Given the description of an element on the screen output the (x, y) to click on. 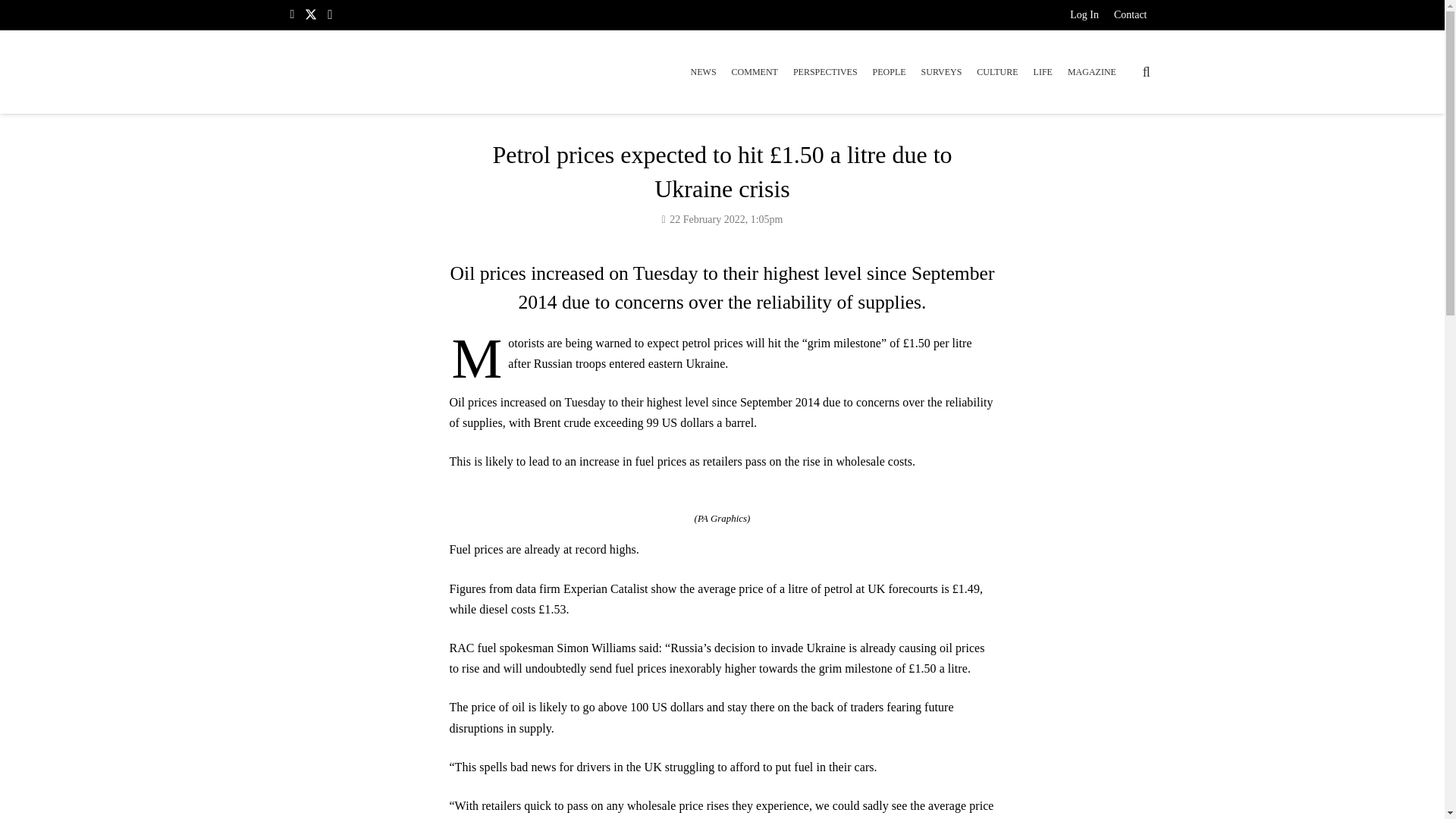
SURVEYS (941, 71)
LIFE (1042, 71)
CULTURE (997, 71)
PEOPLE (889, 71)
COMMENT (754, 71)
NEWS (702, 71)
Log In (1084, 17)
Contact (1130, 17)
Twitter (310, 14)
MAGAZINE (1091, 71)
